Given the description of an element on the screen output the (x, y) to click on. 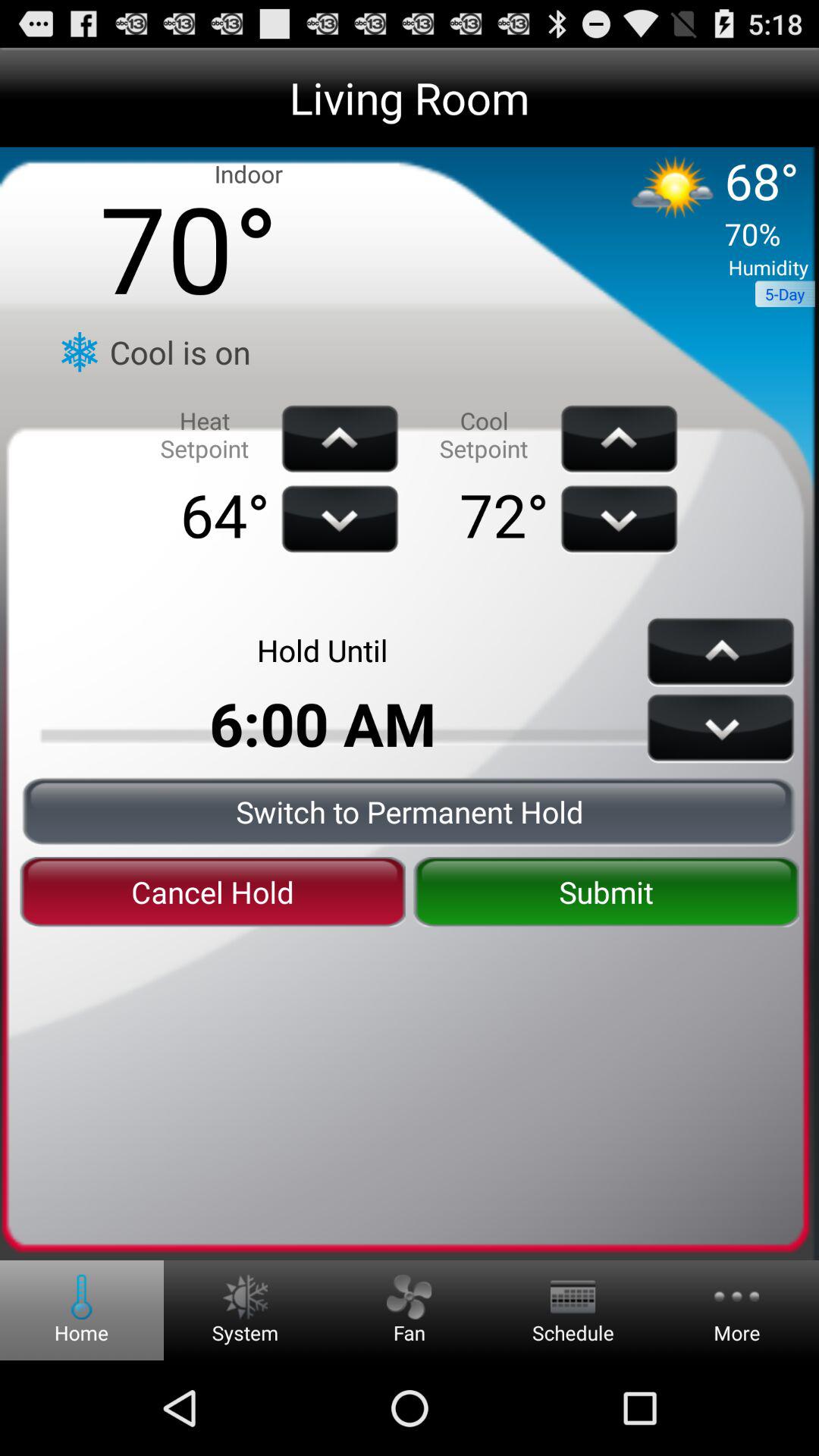
turn off submit button (606, 892)
